Given the description of an element on the screen output the (x, y) to click on. 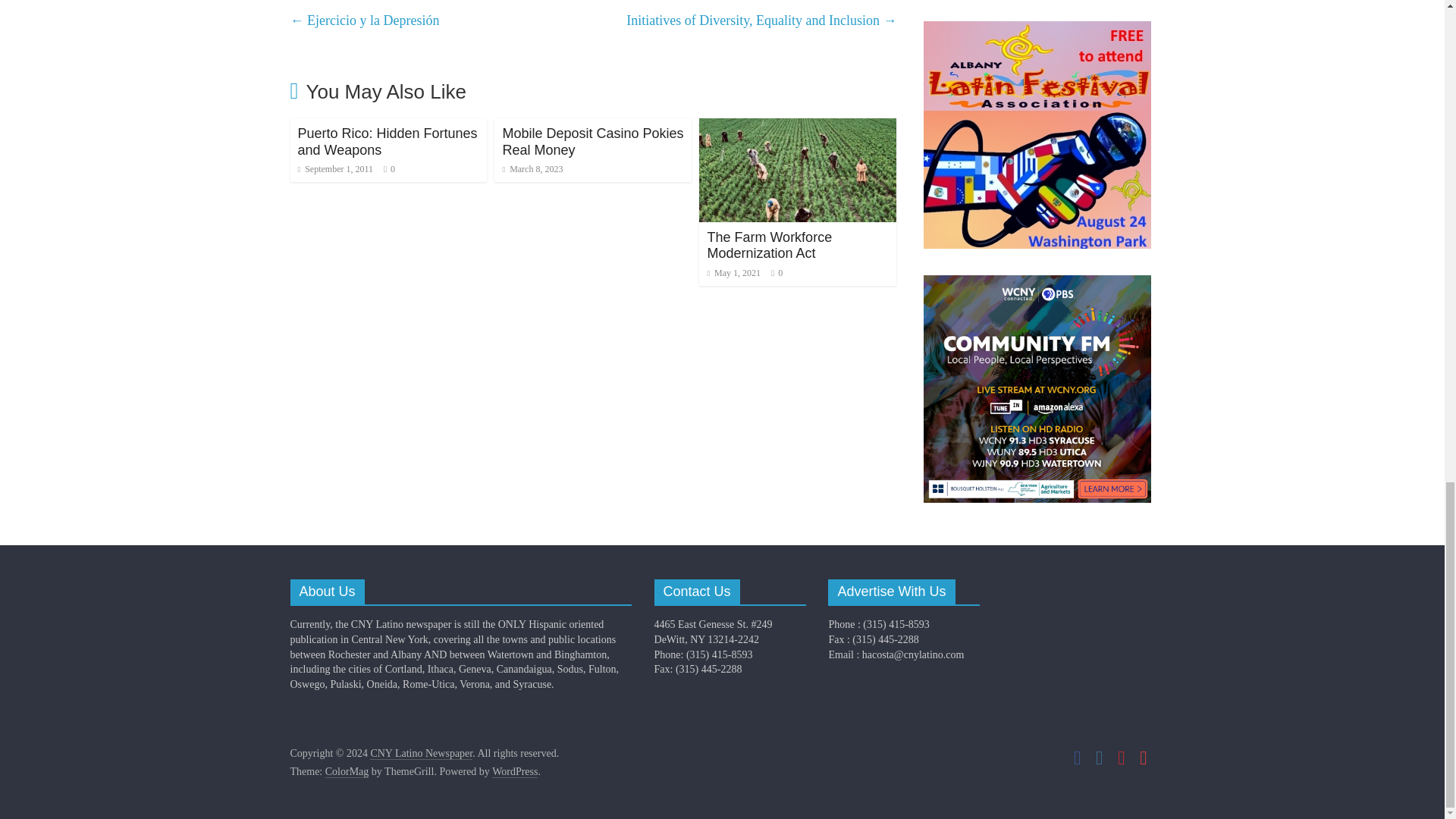
The Farm Workforce Modernization Act (797, 127)
4:27 pm (532, 168)
Puerto Rico: Hidden Fortunes and Weapons (387, 142)
Mobile Deposit Casino Pokies Real Money (592, 142)
4:28 pm (334, 168)
